Given the description of an element on the screen output the (x, y) to click on. 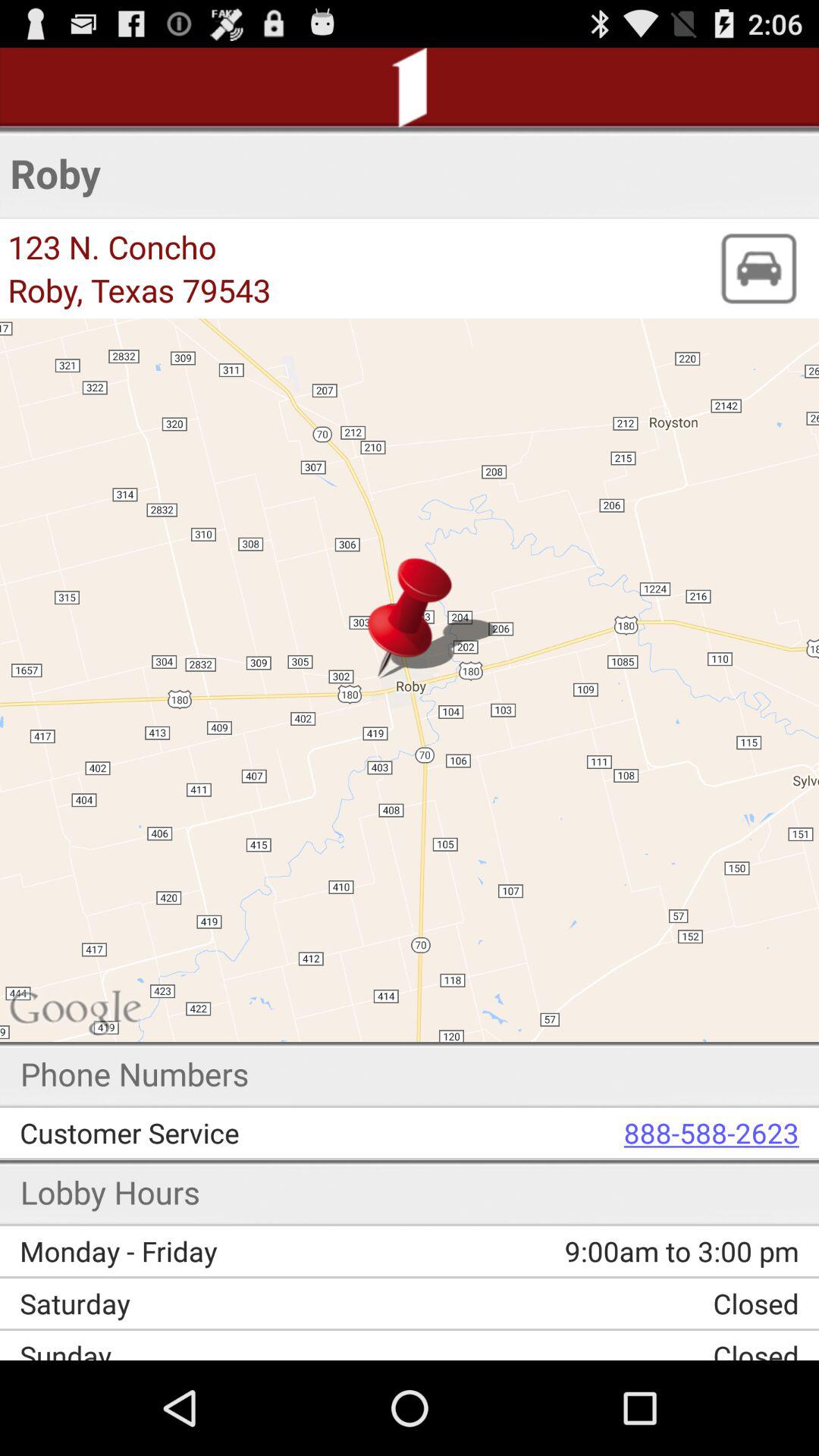
turn on the 9 00am to (594, 1251)
